Given the description of an element on the screen output the (x, y) to click on. 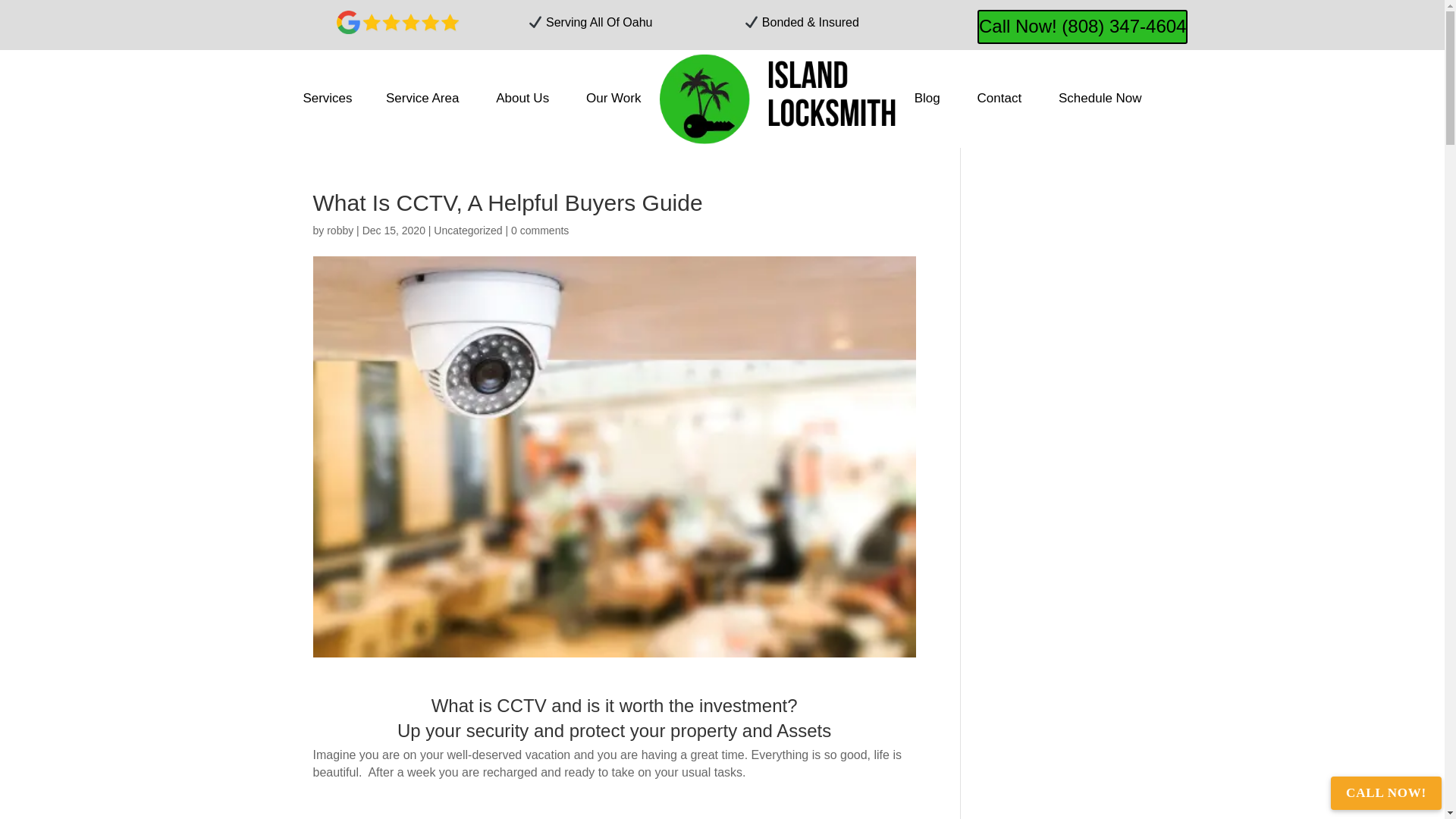
Uncategorized (467, 230)
About Us (522, 98)
Service Area (422, 98)
Services (325, 98)
0 comments (540, 230)
robby (339, 230)
g-reviews (398, 22)
Schedule Now (1100, 98)
Contact (998, 98)
Posts by robby (339, 230)
Blog (926, 98)
Our Work (613, 98)
